Given the description of an element on the screen output the (x, y) to click on. 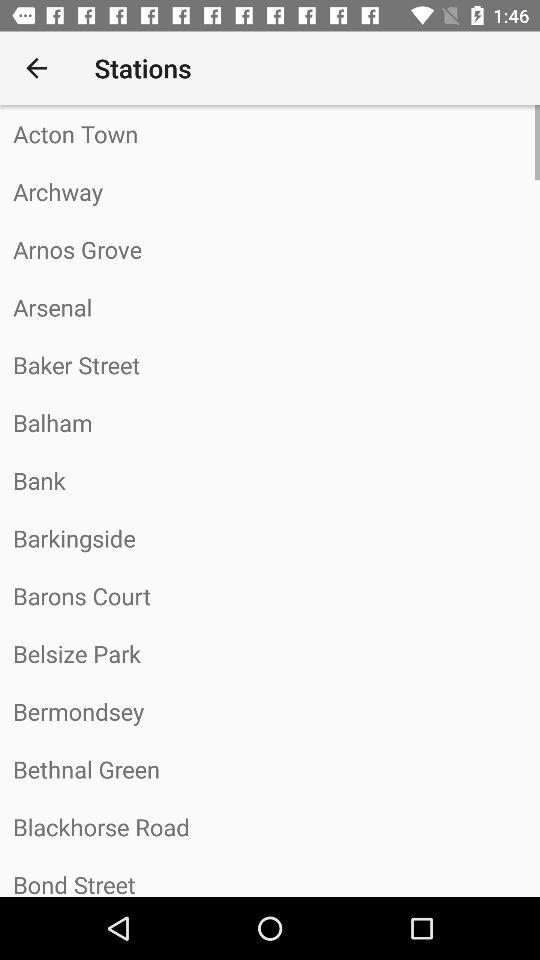
swipe to the bermondsey icon (270, 711)
